Given the description of an element on the screen output the (x, y) to click on. 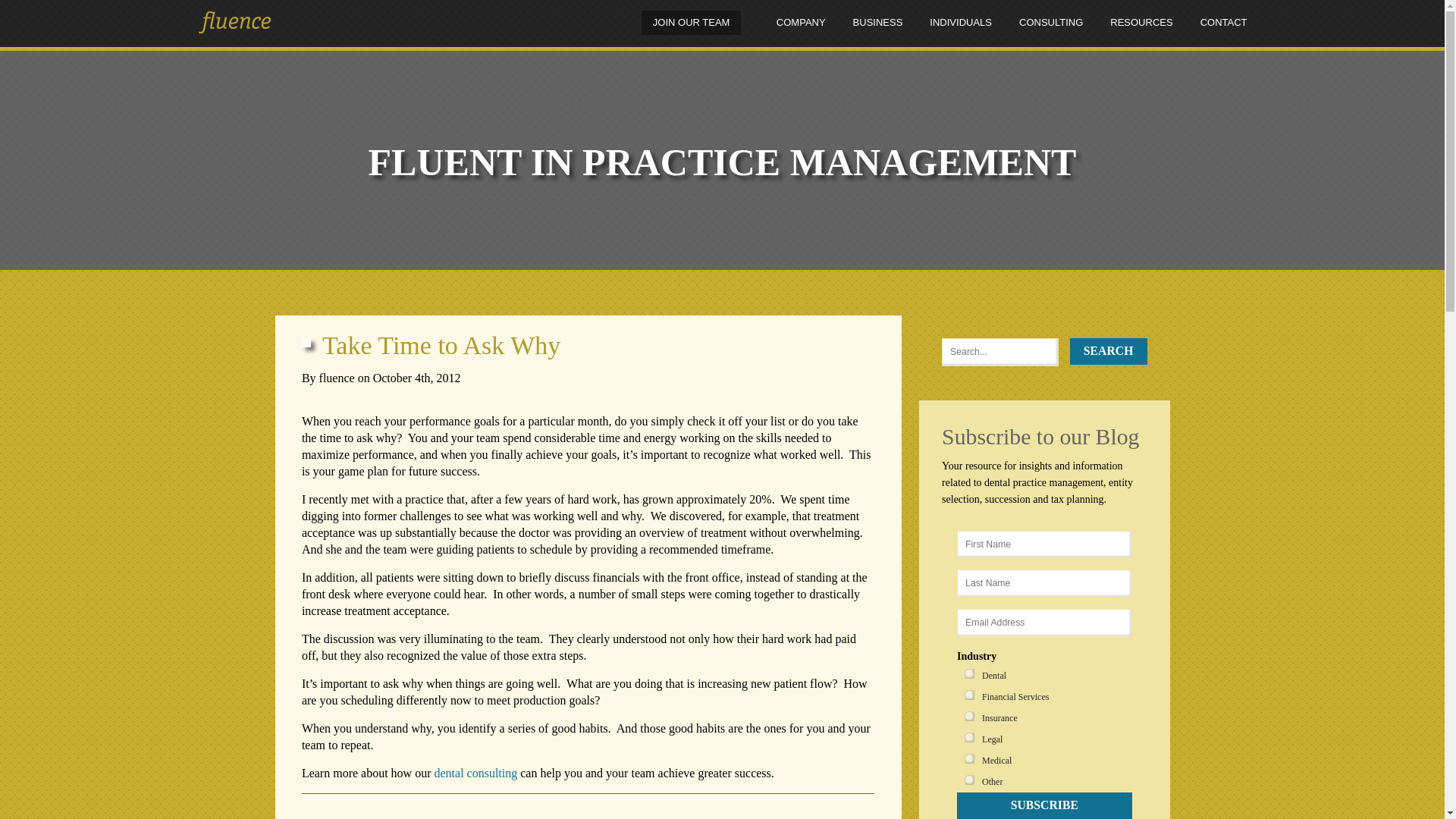
1 (968, 673)
Search (1108, 351)
Fluence (229, 22)
CONSULTING (1051, 28)
BUSINESS (878, 28)
JOIN OUR TEAM (691, 22)
2 (968, 695)
Subscribe (1043, 805)
16 (968, 779)
32 (968, 758)
INDIVIDUALS (960, 28)
4 (968, 716)
RESOURCES (1141, 28)
8 (968, 737)
COMPANY (801, 28)
